Given the description of an element on the screen output the (x, y) to click on. 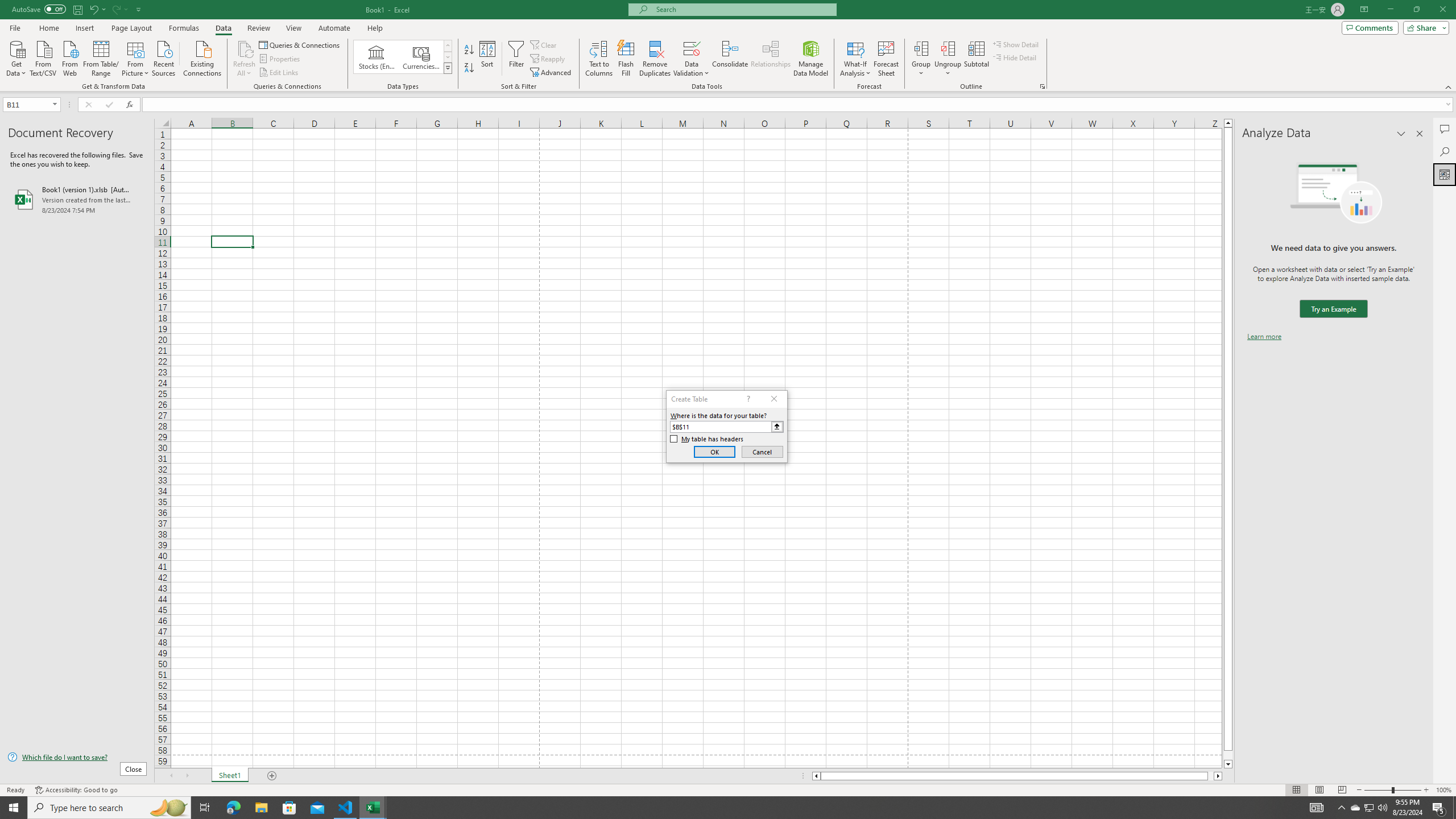
Consolidate... (729, 58)
